Given the description of an element on the screen output the (x, y) to click on. 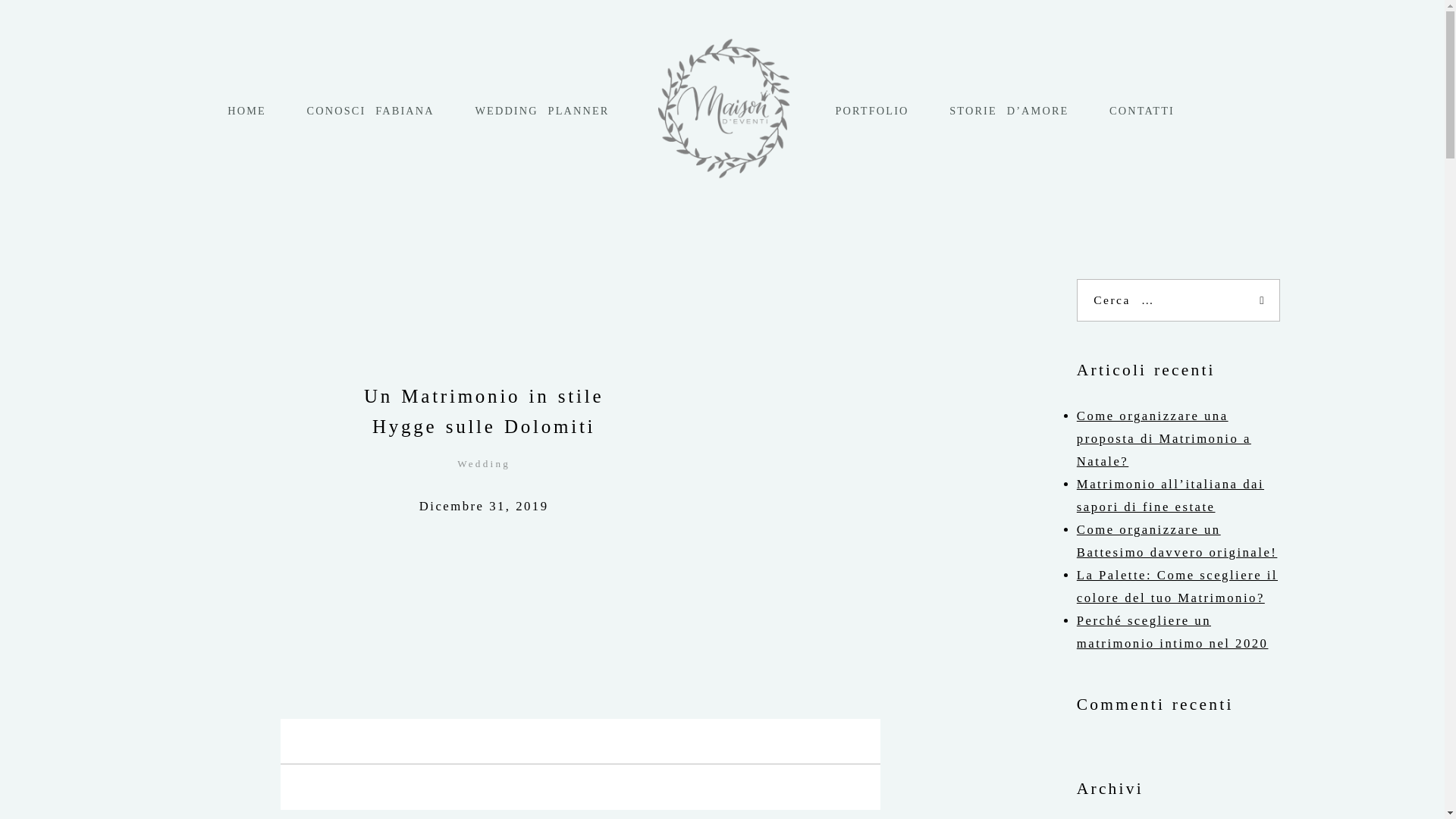
Cerca (61, 21)
scrivimi una email (1141, 110)
CONOSCI FABIANA (370, 110)
fabiana vernetti wedding planner toscana livorno (370, 110)
wedding planner toscana firenze (246, 110)
PORTFOLIO (871, 110)
WEDDING PLANNER (541, 110)
HOME (246, 110)
matrimonio in toscana wedding planner toscana (1008, 110)
La Palette: Come scegliere il colore del tuo Matrimonio? (1177, 586)
Wedding (484, 463)
Come organizzare un Battesimo davvero originale! (1177, 540)
Come organizzare una proposta di Matrimonio a Natale? (1163, 438)
CONTATTI (1141, 110)
